Given the description of an element on the screen output the (x, y) to click on. 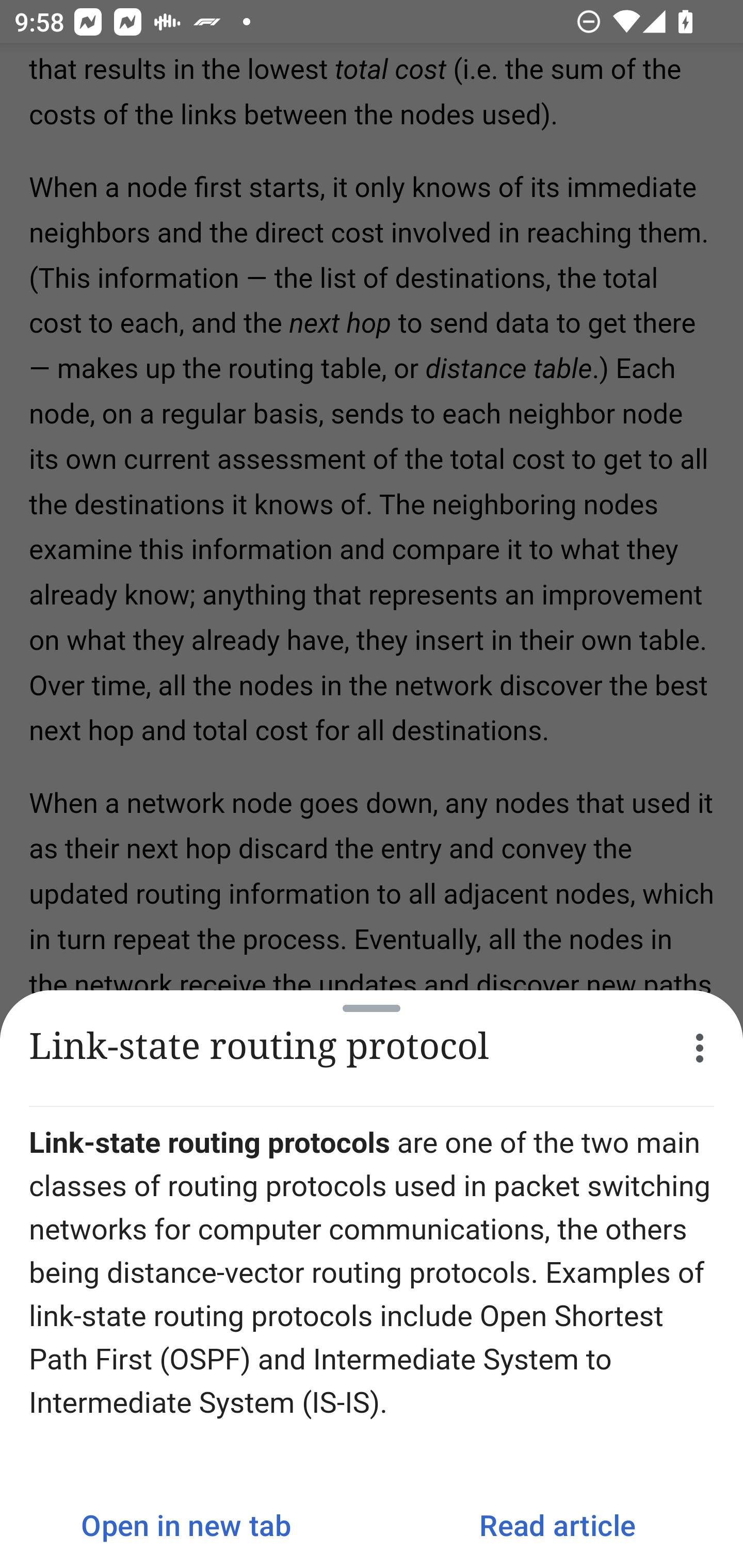
Link-state routing protocol More options (371, 1047)
More options (699, 1048)
Open in new tab (185, 1524)
Read article (557, 1524)
